Given the description of an element on the screen output the (x, y) to click on. 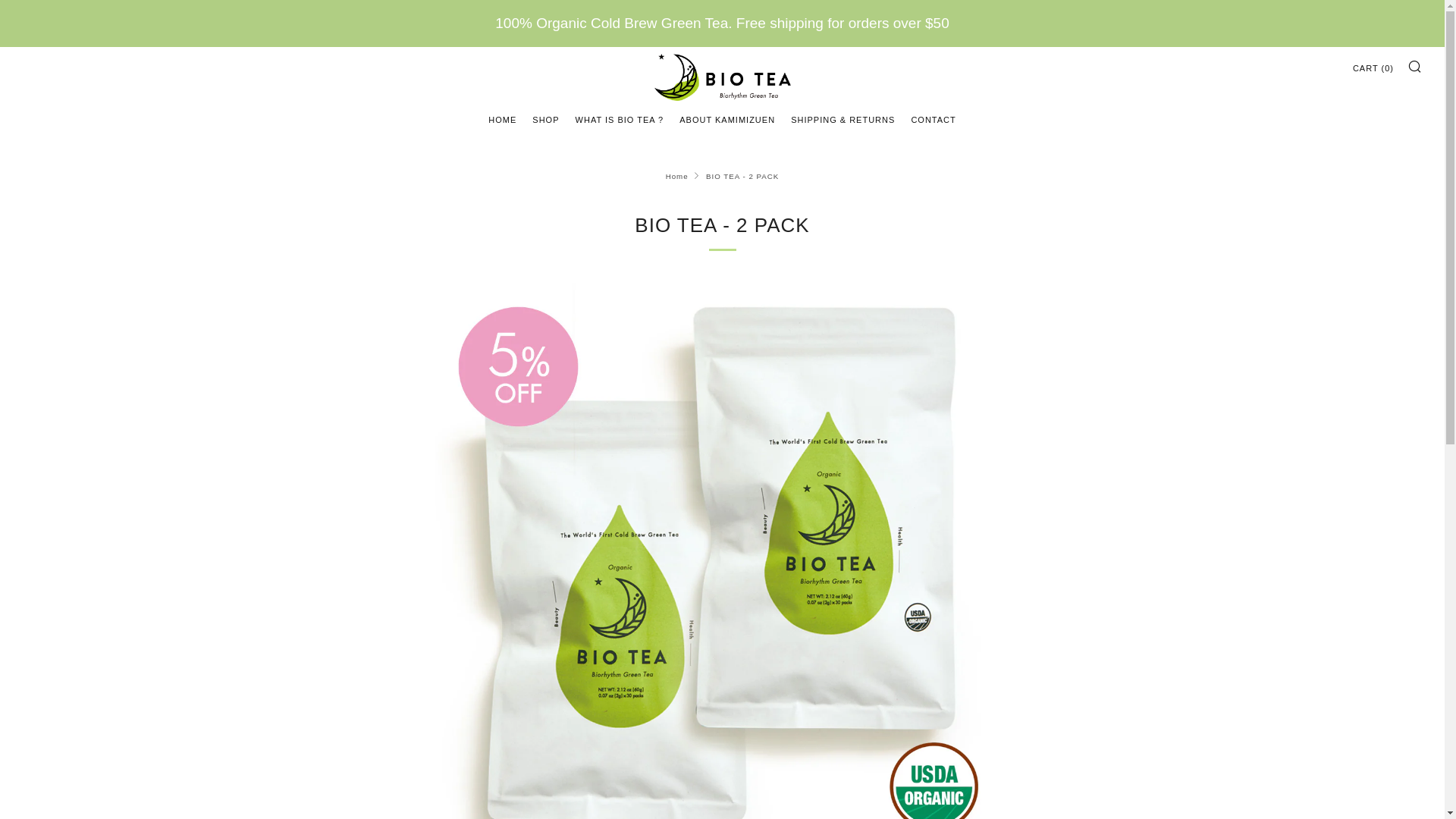
SHOP (545, 119)
SEARCH (1414, 65)
WHAT IS BIO TEA ? (619, 119)
ABOUT KAMIMIZUEN (726, 119)
HOME (501, 119)
Home (676, 175)
CONTACT (933, 119)
Home (676, 175)
